Given the description of an element on the screen output the (x, y) to click on. 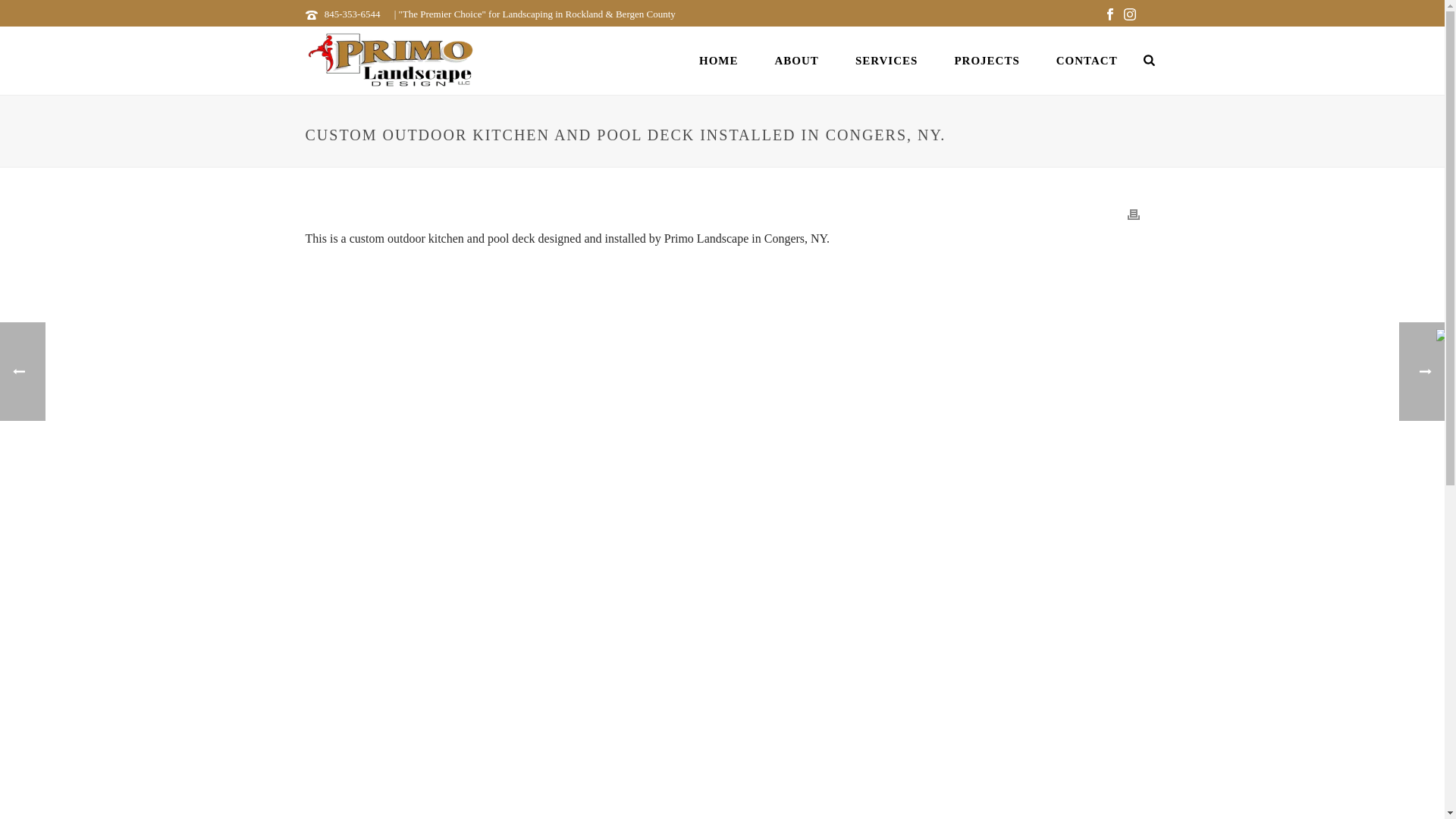
HOME (718, 59)
SERVICES (886, 59)
CONTACT (1086, 59)
ABOUT (796, 59)
PROJECTS (986, 59)
ABOUT (796, 59)
SERVICES (886, 59)
PROJECTS (986, 59)
CONTACT (1086, 59)
